Given the description of an element on the screen output the (x, y) to click on. 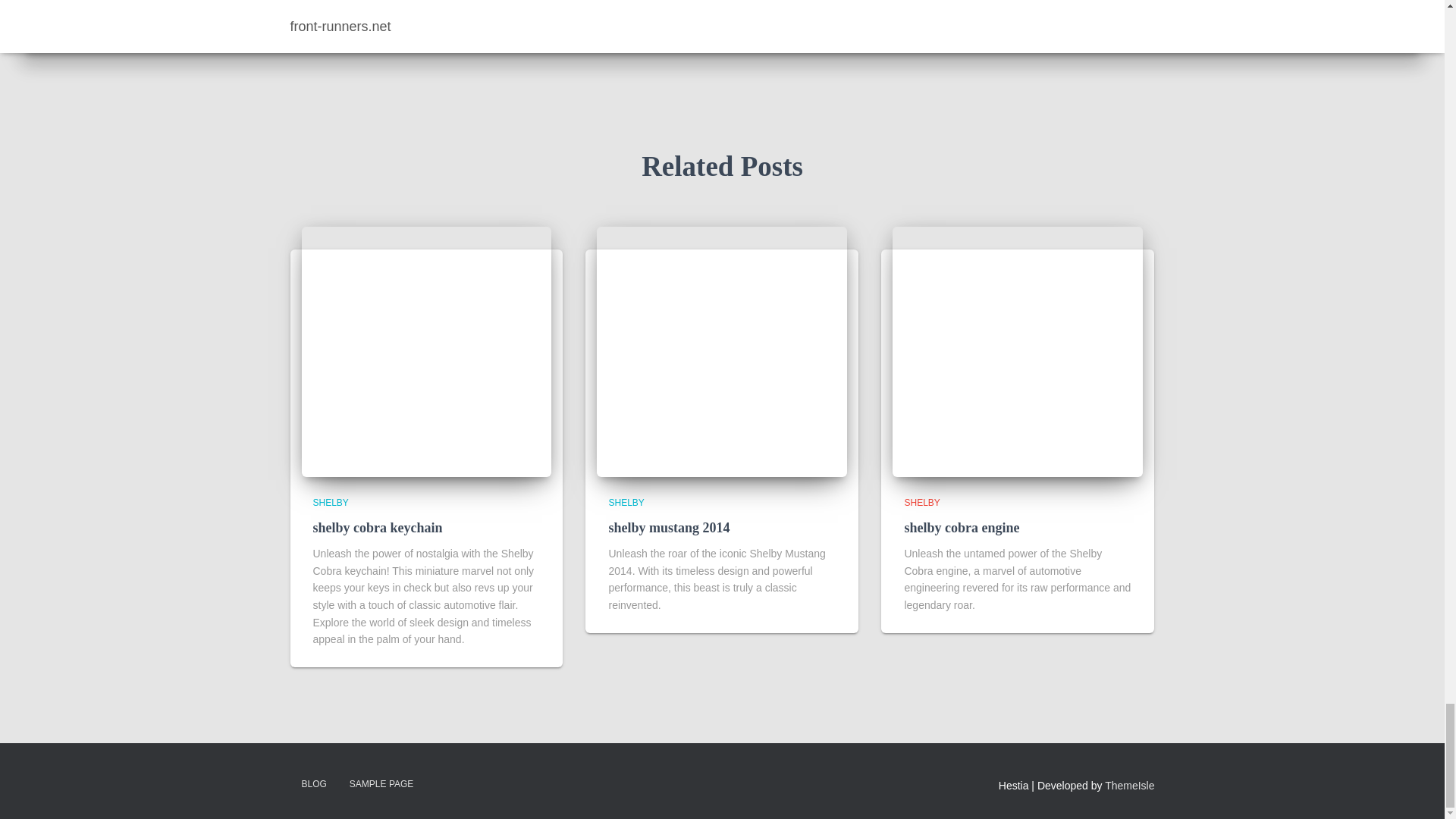
shelby cobra keychain (377, 527)
View all posts in Shelby (330, 502)
shelby mustang 2014 (668, 527)
shelby cobra keychain (426, 351)
shelby mustang 2014 (721, 351)
View all posts in Shelby (625, 502)
